Given the description of an element on the screen output the (x, y) to click on. 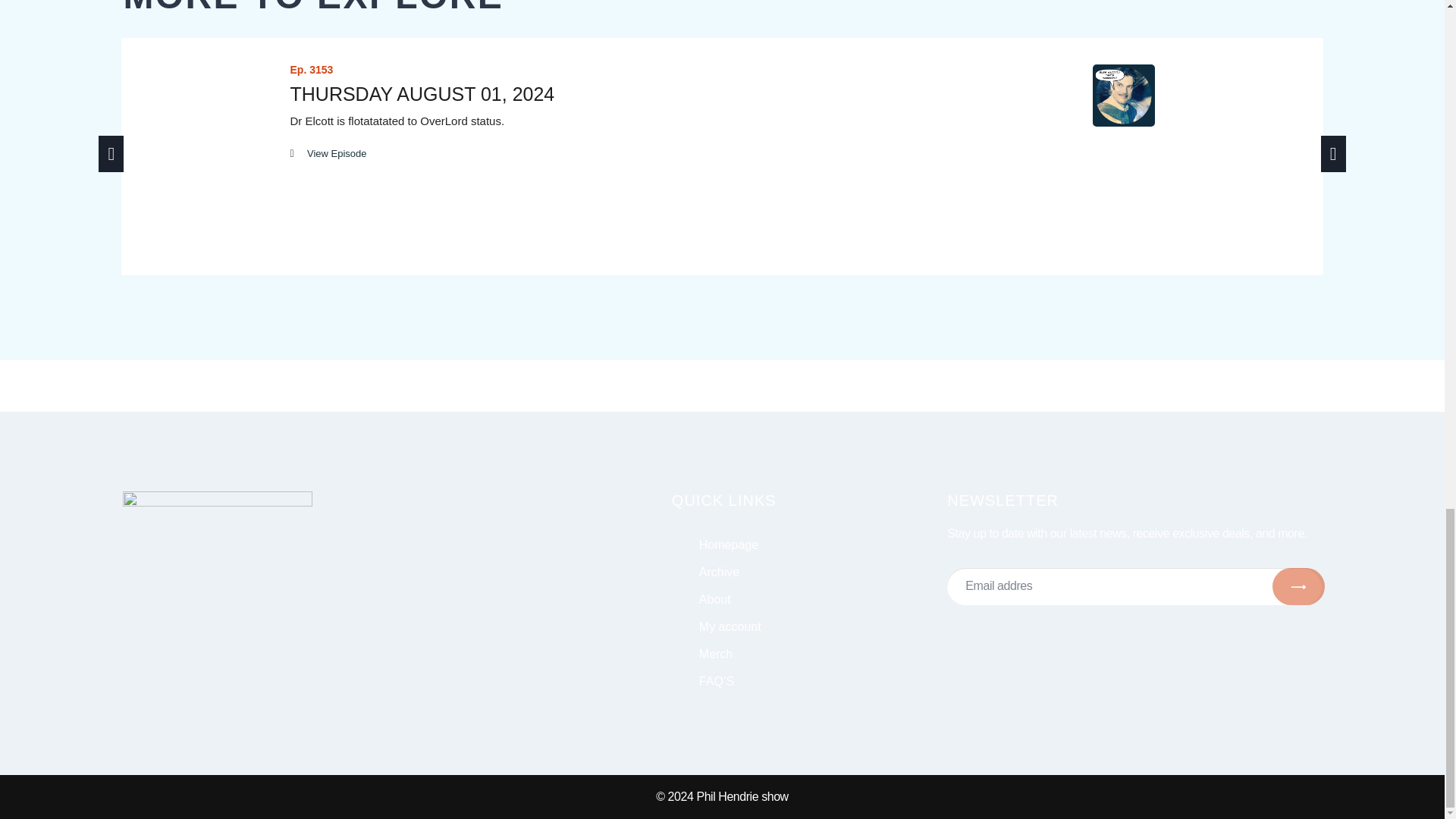
View Episode (327, 153)
THURSDAY AUGUST 01, 2024 (421, 93)
